Given the description of an element on the screen output the (x, y) to click on. 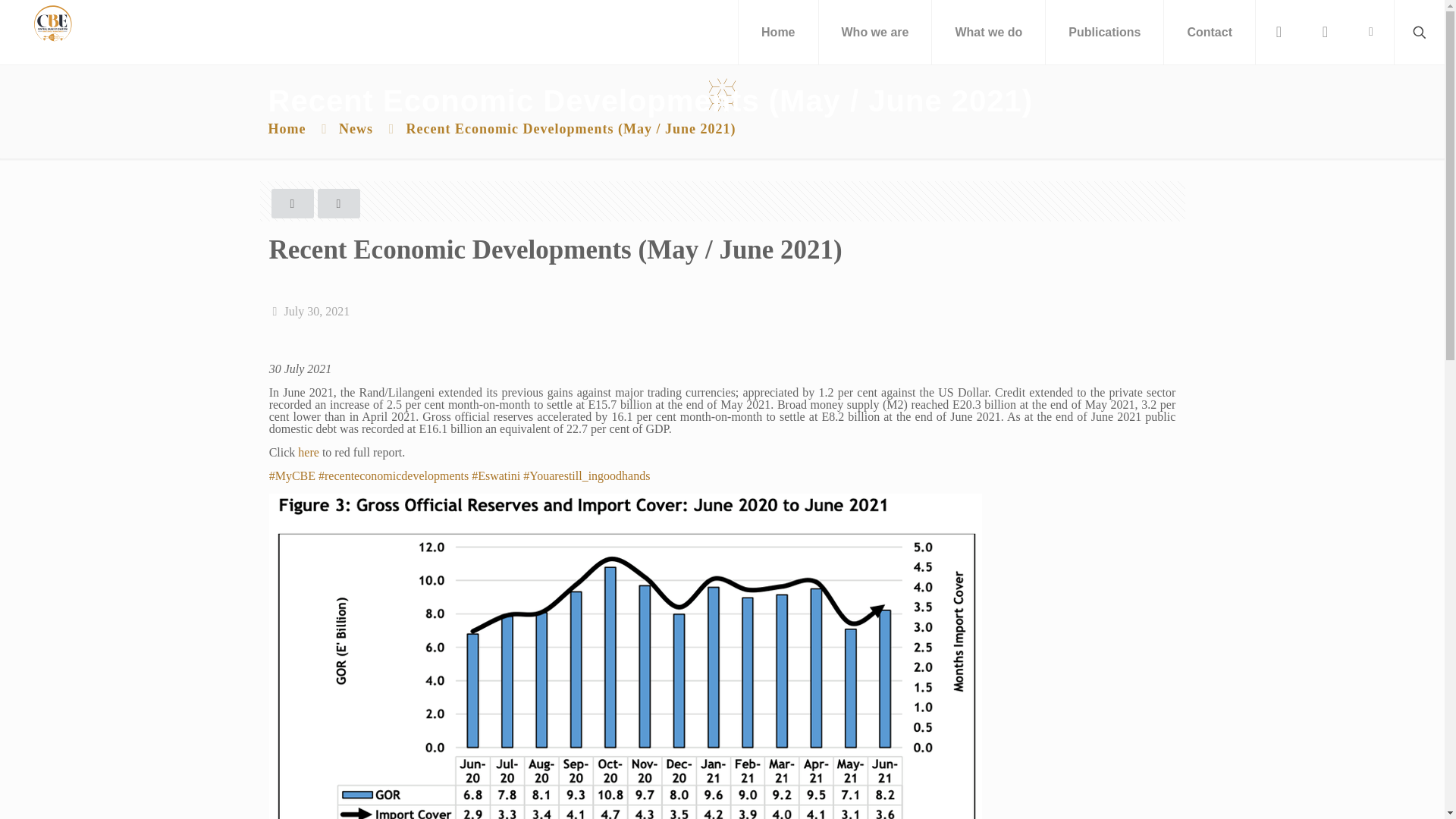
What we do (988, 32)
Publications (1104, 32)
Home (778, 32)
Who we are (875, 32)
Central Bank (52, 22)
